Given the description of an element on the screen output the (x, y) to click on. 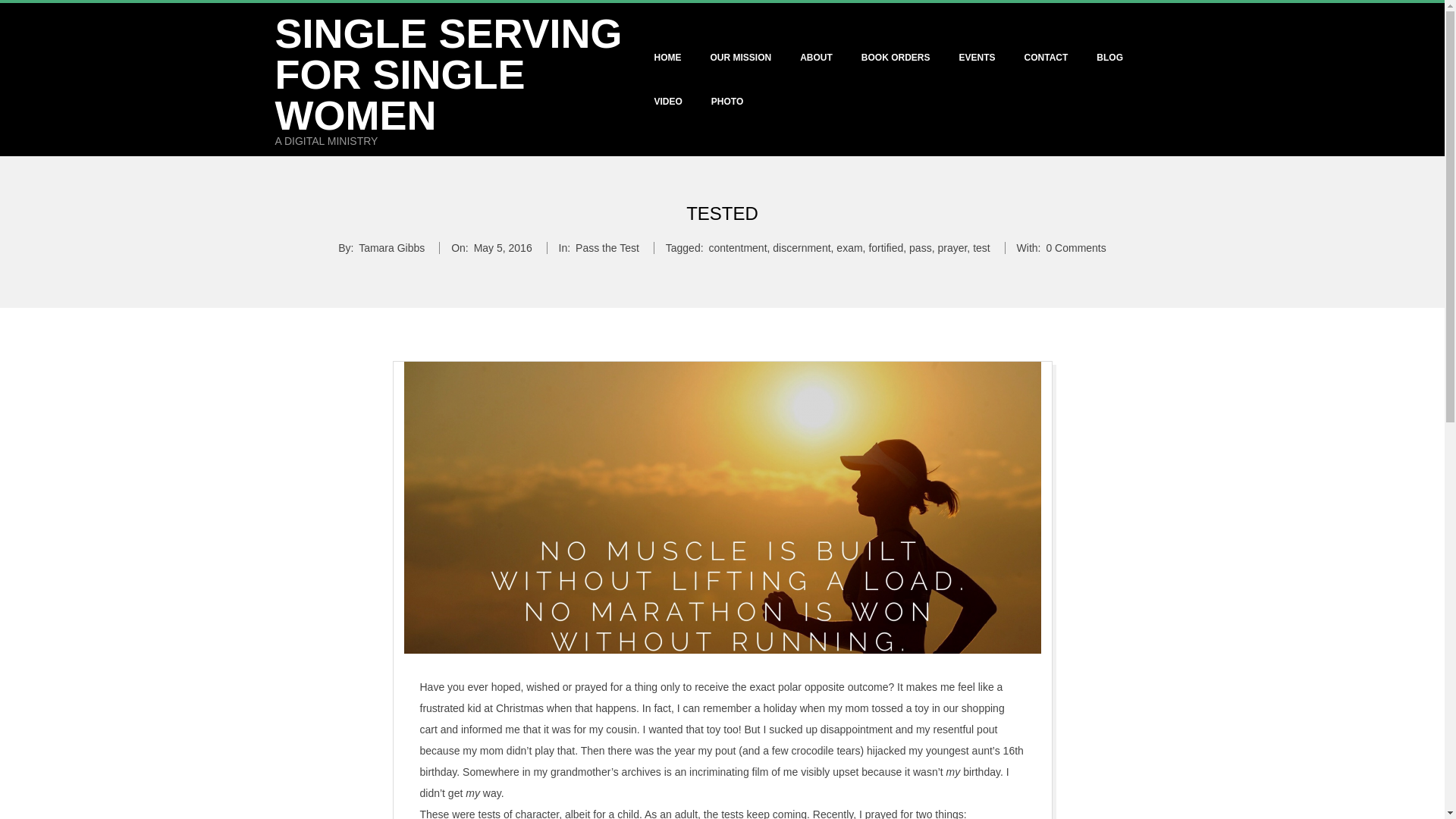
CONTACT (1045, 57)
OUR MISSION (739, 57)
Tamara Gibbs (391, 247)
pass (919, 247)
0 Comments (1075, 247)
ABOUT (816, 57)
contentment (737, 247)
Thursday, May 5, 2016, 12:16 am (503, 247)
EVENTS (977, 57)
PHOTO (727, 101)
